Given the description of an element on the screen output the (x, y) to click on. 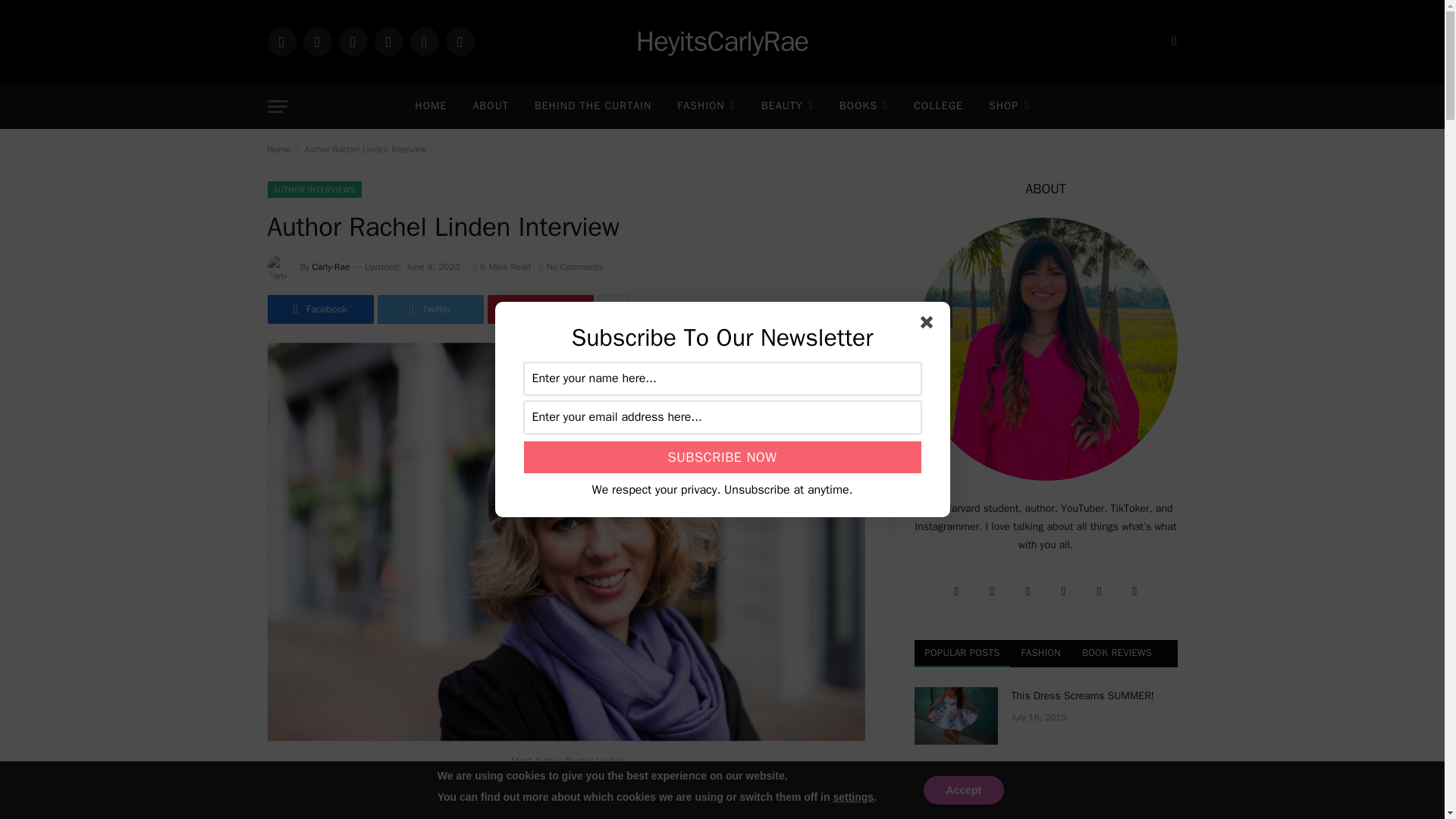
Instagram (280, 41)
Pinterest (423, 41)
FASHION (705, 105)
Show More Social Sharing (611, 308)
COLLEGE (938, 105)
HOME (430, 105)
SHOP (1008, 105)
Subscribe Now (721, 457)
Posts by Carly-Rae (331, 266)
Share on Pinterest (539, 308)
HeyitsCarlyRae (722, 41)
TikTok (316, 41)
Author Rachel Linden Interview (565, 737)
BEHIND THE CURTAIN (592, 105)
